Given the description of an element on the screen output the (x, y) to click on. 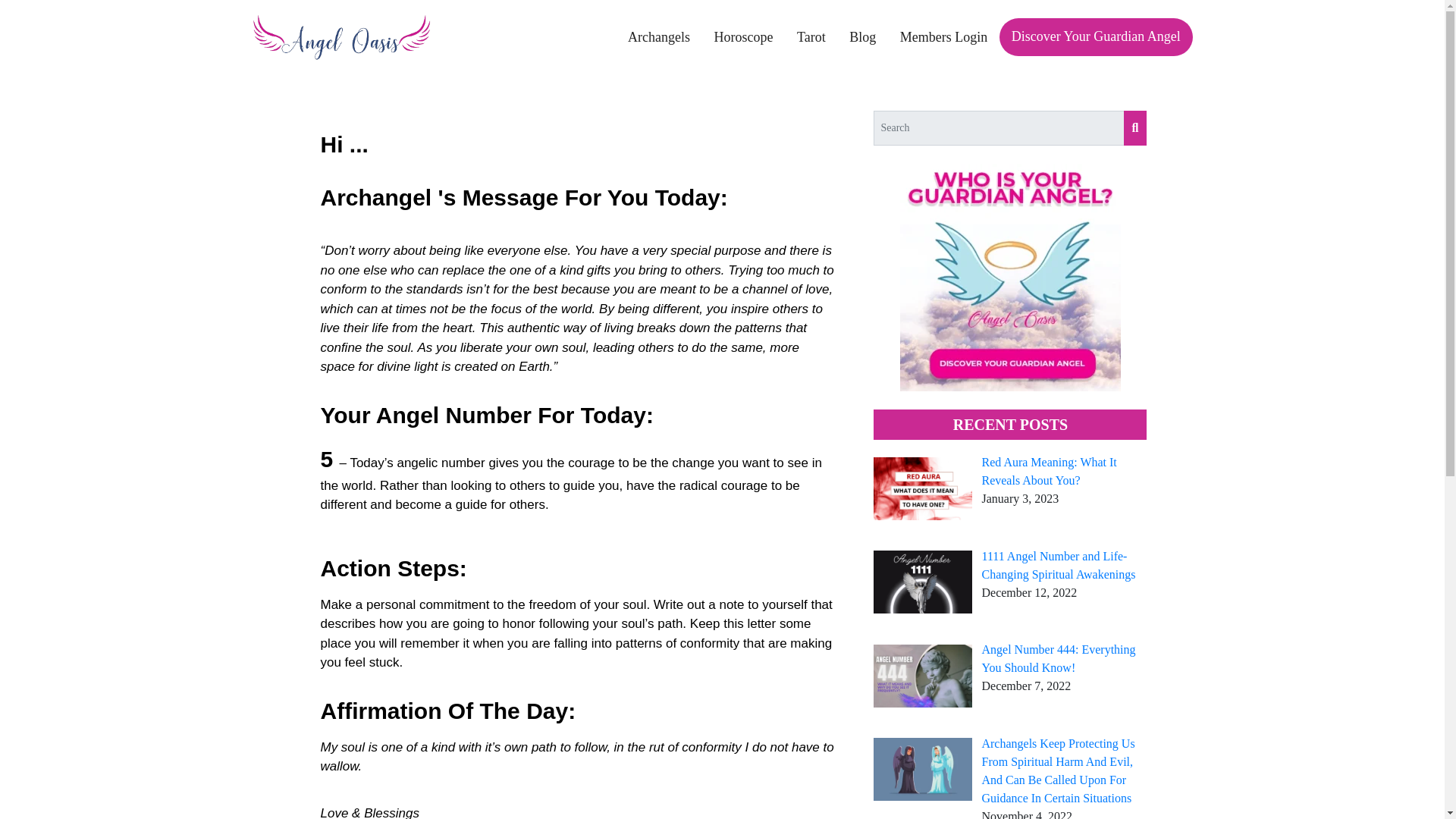
Angel Number 444: Everything You Should Know! 4 (922, 675)
Members Login (943, 37)
Red Aura Meaning: What It Reveals About You? 2 (922, 488)
1111 Angel Number and Life-Changing Spiritual Awakenings 3 (922, 581)
Horoscope (742, 37)
Blog (863, 37)
Angel Oasis (340, 36)
Tarot (810, 37)
Archangels (658, 37)
